Given the description of an element on the screen output the (x, y) to click on. 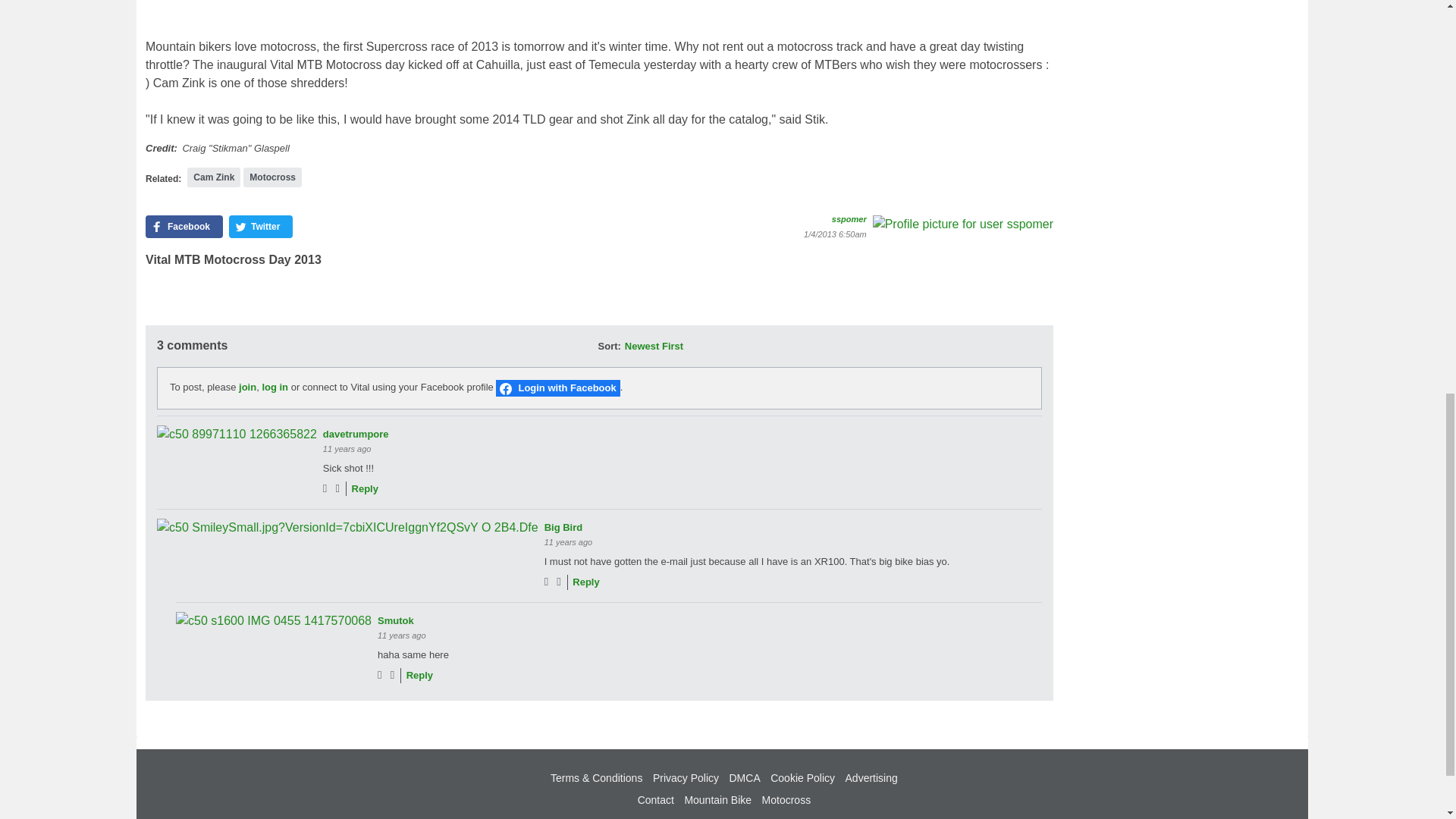
View user profile. (355, 433)
davetrumpore (237, 434)
sspomer (962, 224)
